Given the description of an element on the screen output the (x, y) to click on. 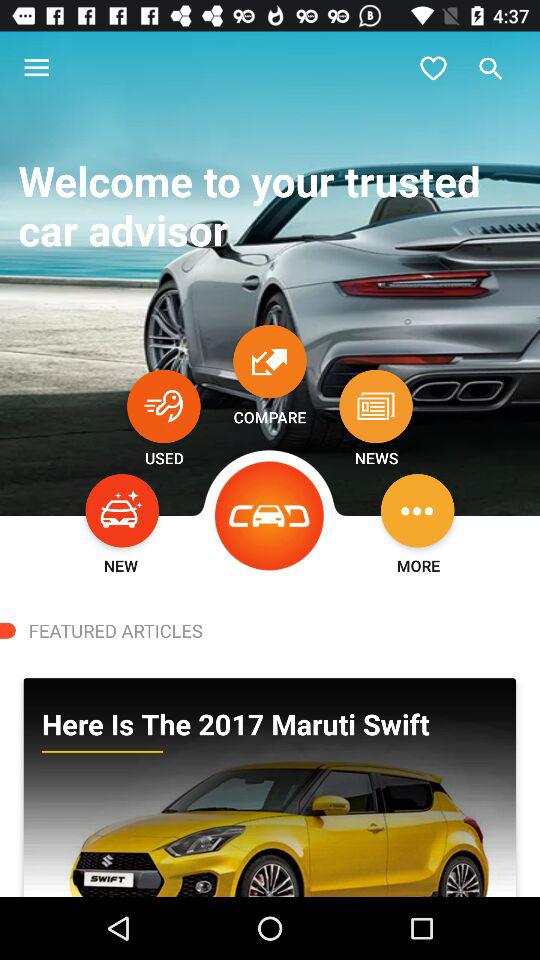
start new car search (122, 510)
